Given the description of an element on the screen output the (x, y) to click on. 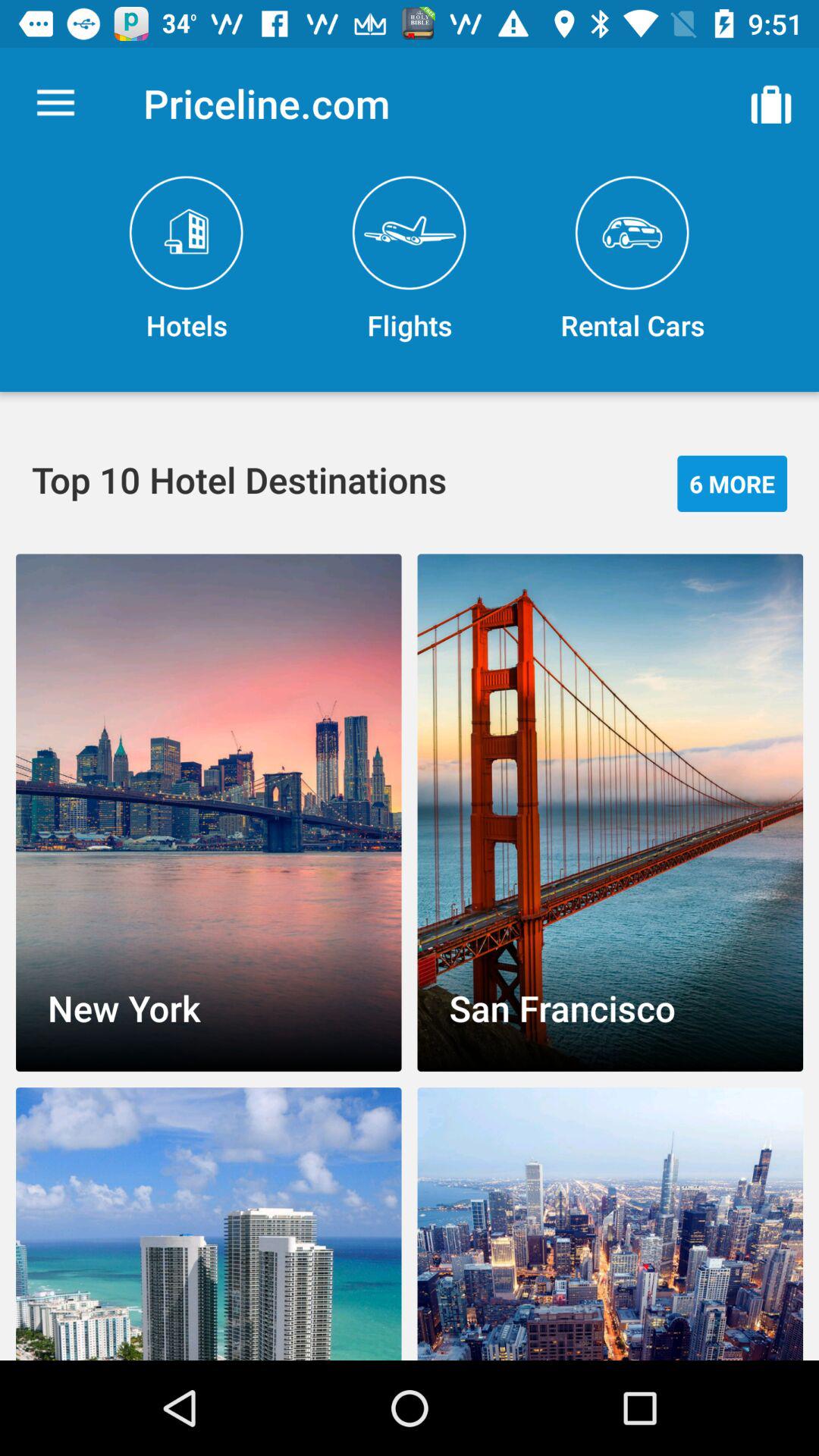
turn on the item to the right of the flights (631, 259)
